Given the description of an element on the screen output the (x, y) to click on. 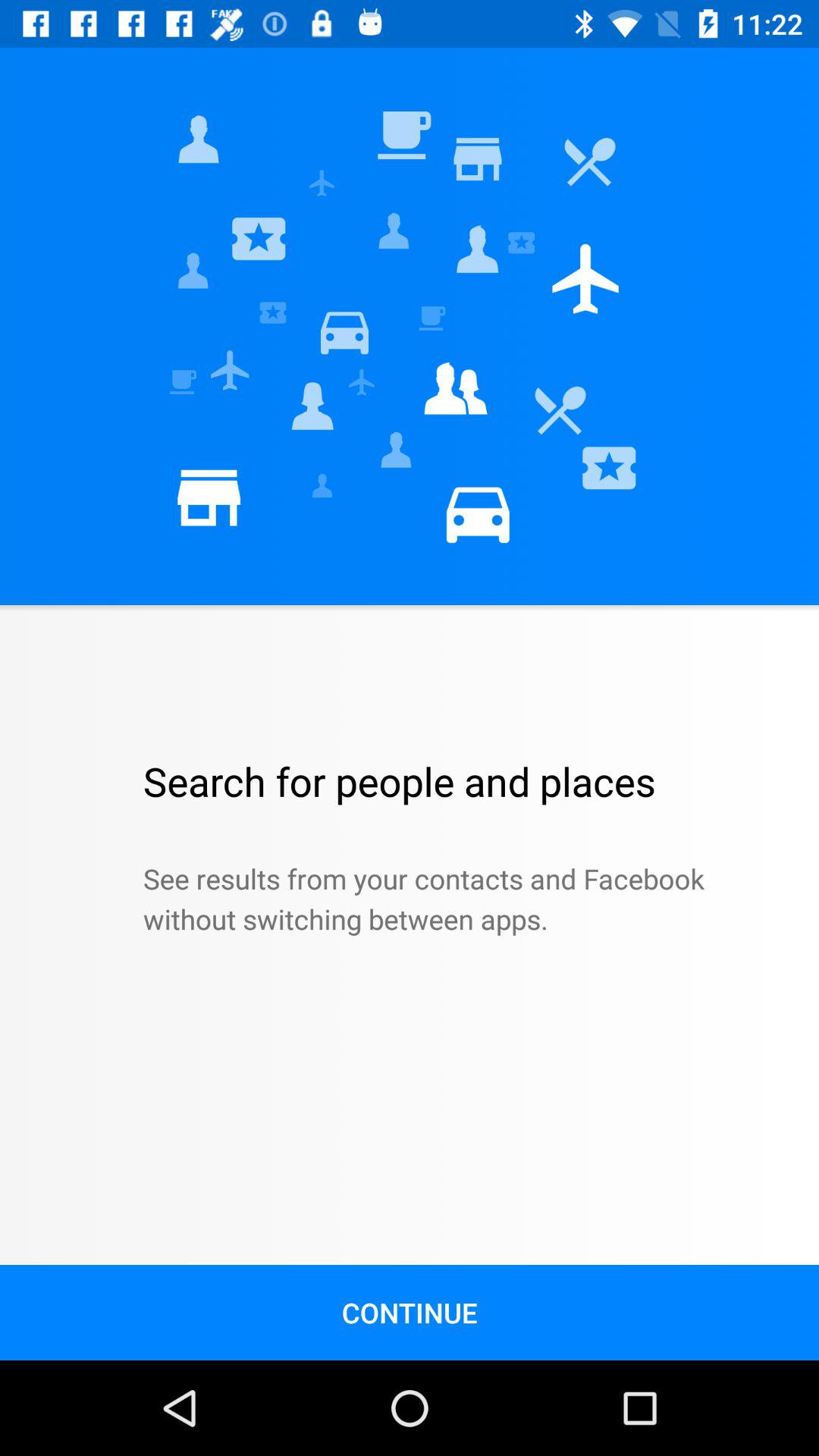
tap the continue icon (409, 1312)
